Given the description of an element on the screen output the (x, y) to click on. 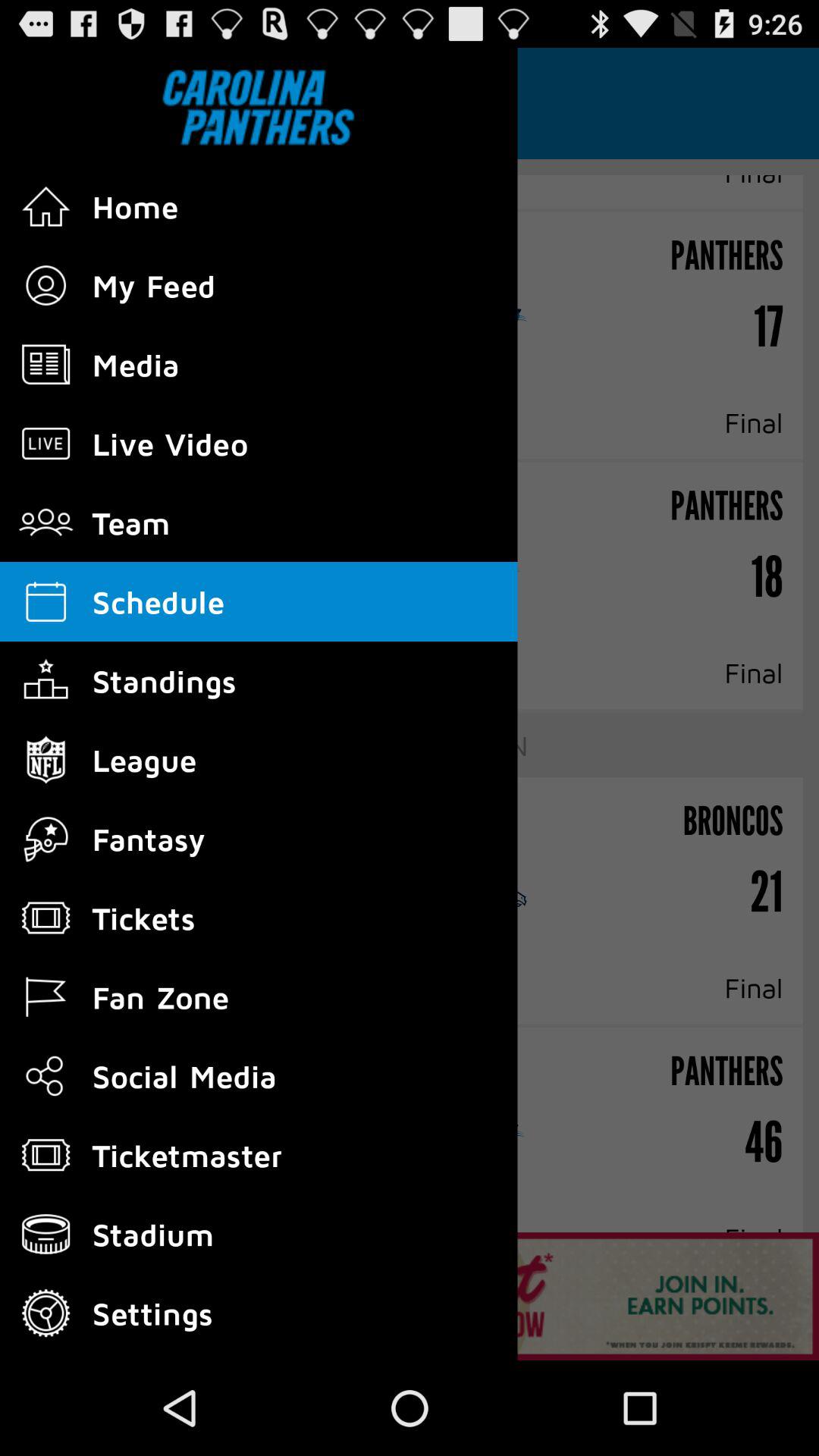
click on the icon to the left of my feed (45, 285)
go to the icon which is left to live video (45, 444)
